Given the description of an element on the screen output the (x, y) to click on. 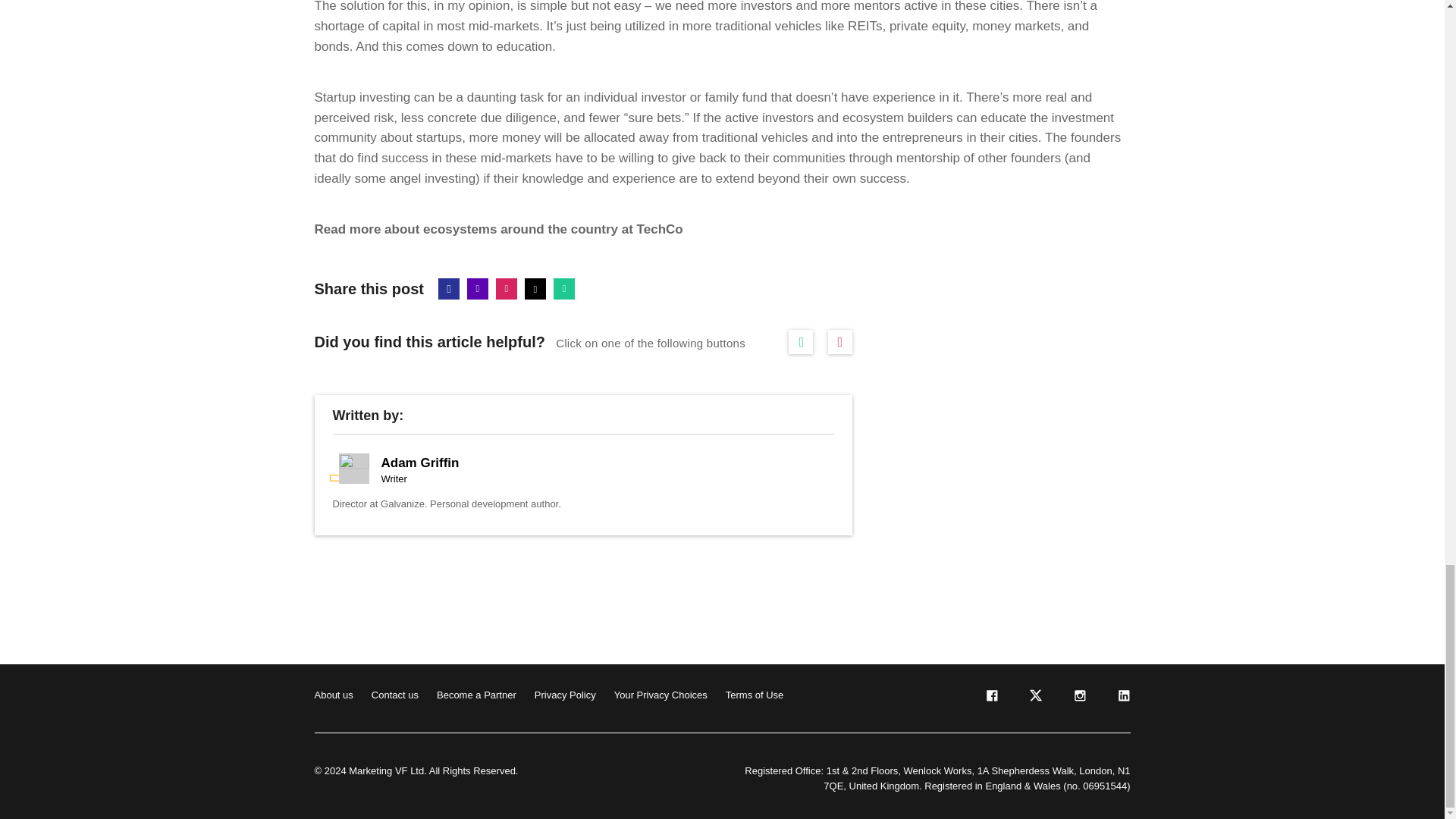
Whatsapp (564, 288)
instagram (1078, 698)
Flipboard (506, 288)
facebook (990, 698)
Linkedin (477, 288)
Twitter-x (535, 288)
twitter-x (1034, 698)
Facebook (449, 288)
linkedin (1122, 698)
